Given the description of an element on the screen output the (x, y) to click on. 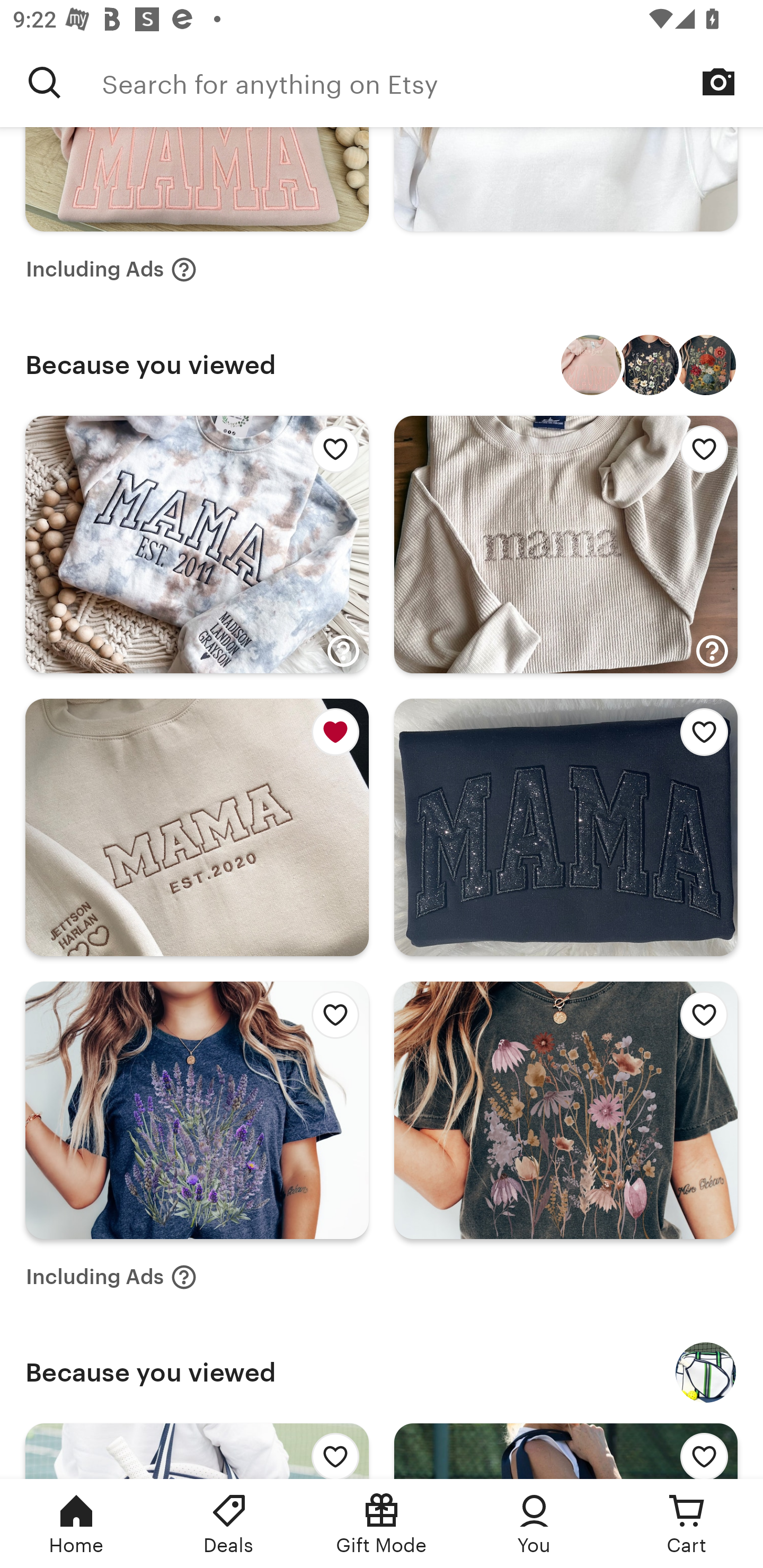
Search for anything on Etsy (44, 82)
Search by image (718, 81)
Search for anything on Etsy (432, 82)
Including Ads (111, 269)
Including Ads (111, 1276)
Deals (228, 1523)
Gift Mode (381, 1523)
You (533, 1523)
Cart (686, 1523)
